Given the description of an element on the screen output the (x, y) to click on. 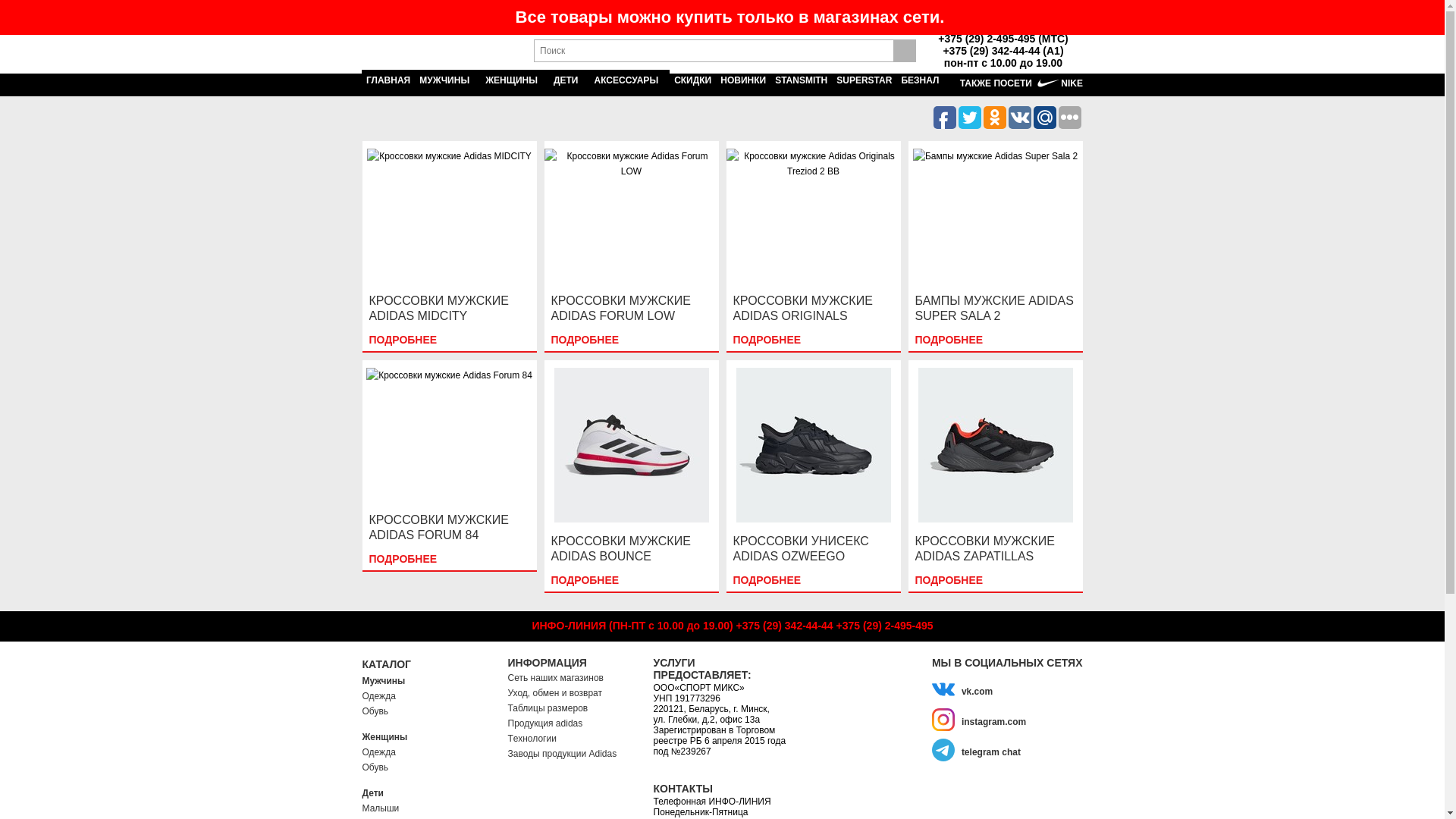
instagram.com Element type: text (1006, 718)
STANSMITH Element type: text (800, 80)
SUPERSTAR Element type: text (863, 80)
Hoops 3.0 Element type: text (20, 48)
telegram chat Element type: text (1006, 748)
Adidas Element type: hover (390, 52)
Superstar Element type: text (19, 58)
vk.com Element type: text (1006, 688)
Reebok Element type: hover (471, 51)
